Given the description of an element on the screen output the (x, y) to click on. 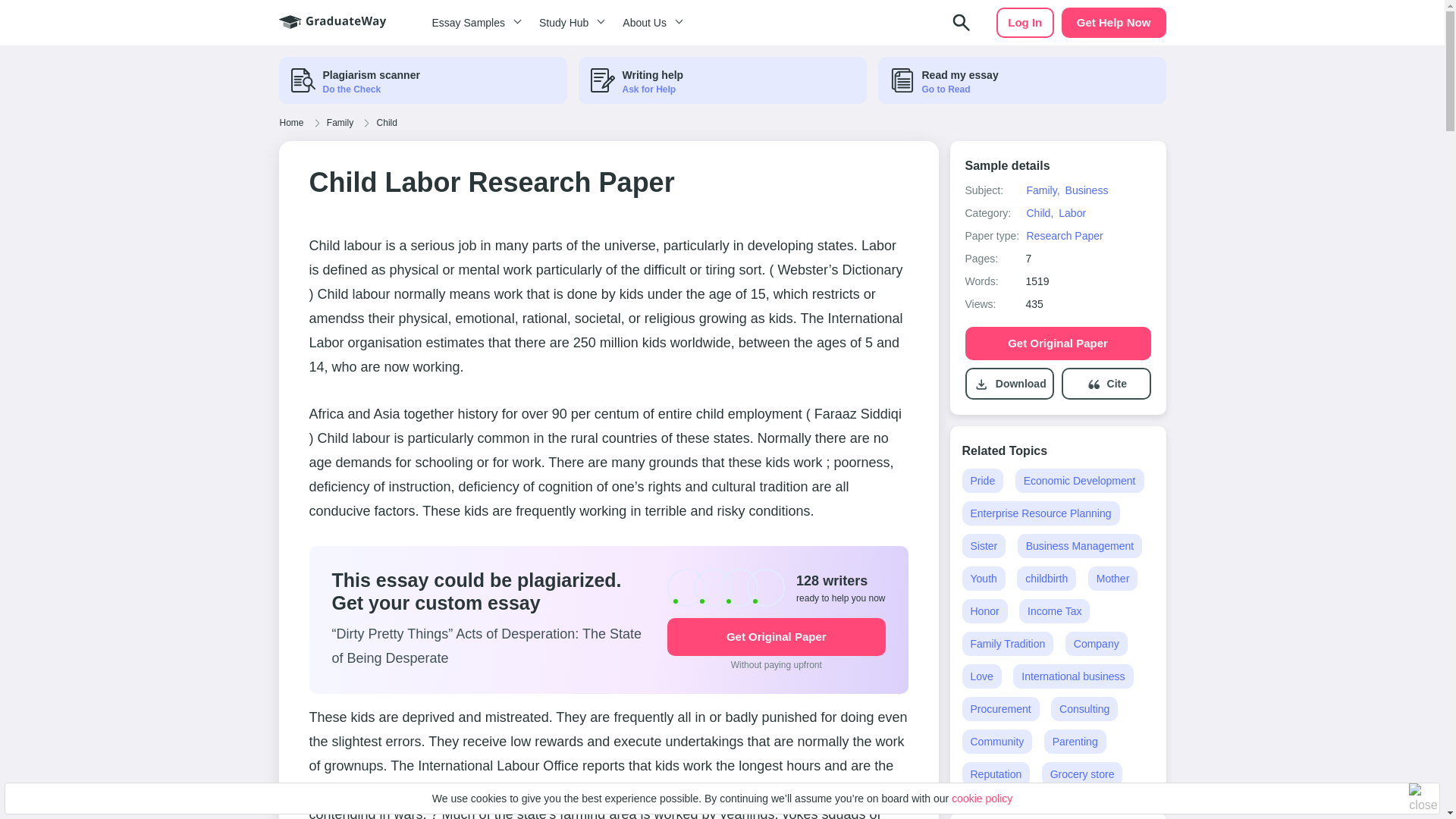
Family (339, 122)
About Us (649, 22)
Business (1086, 190)
Study Hub (569, 22)
Home (291, 122)
Family, (1042, 190)
Essay Samples (473, 22)
Cite (1116, 383)
Child (386, 122)
Child, (1039, 213)
